Given the description of an element on the screen output the (x, y) to click on. 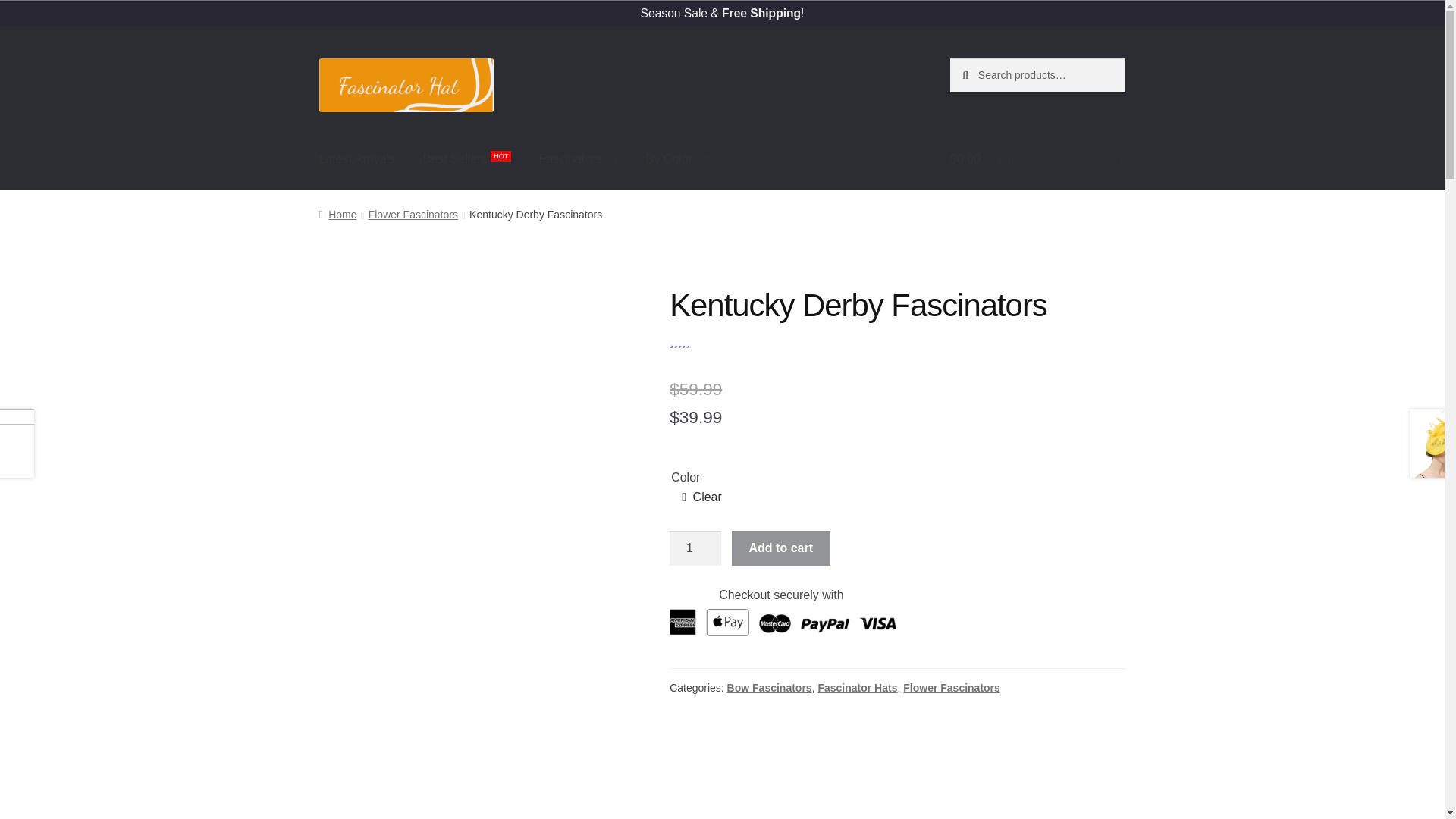
Best Sellers HOT (466, 159)
Fascinators (578, 159)
By Color (676, 159)
1 (694, 547)
Latest Arrivals (357, 159)
View your shopping cart (1037, 159)
